Given the description of an element on the screen output the (x, y) to click on. 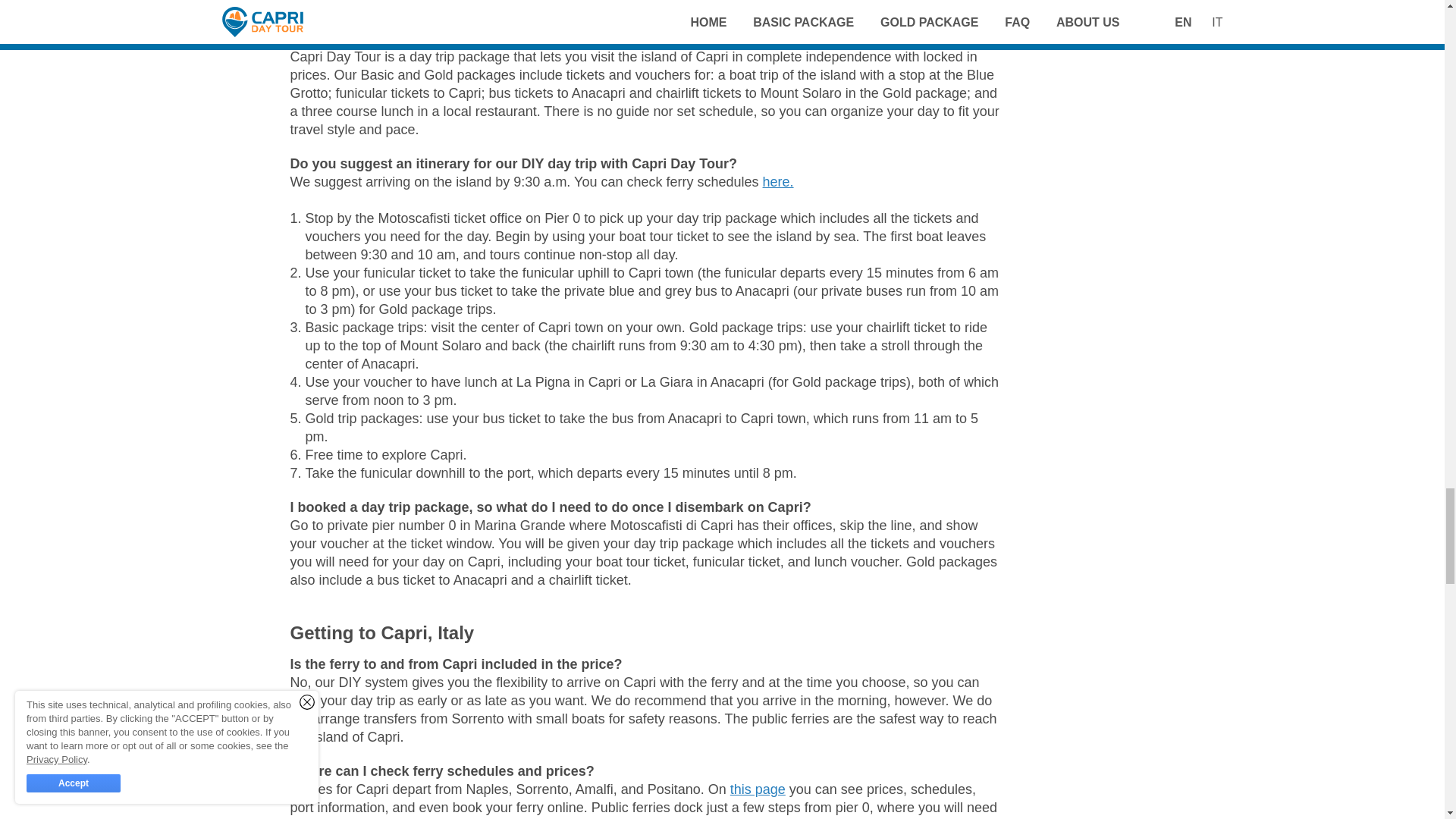
here. (777, 181)
this page (758, 789)
